Given the description of an element on the screen output the (x, y) to click on. 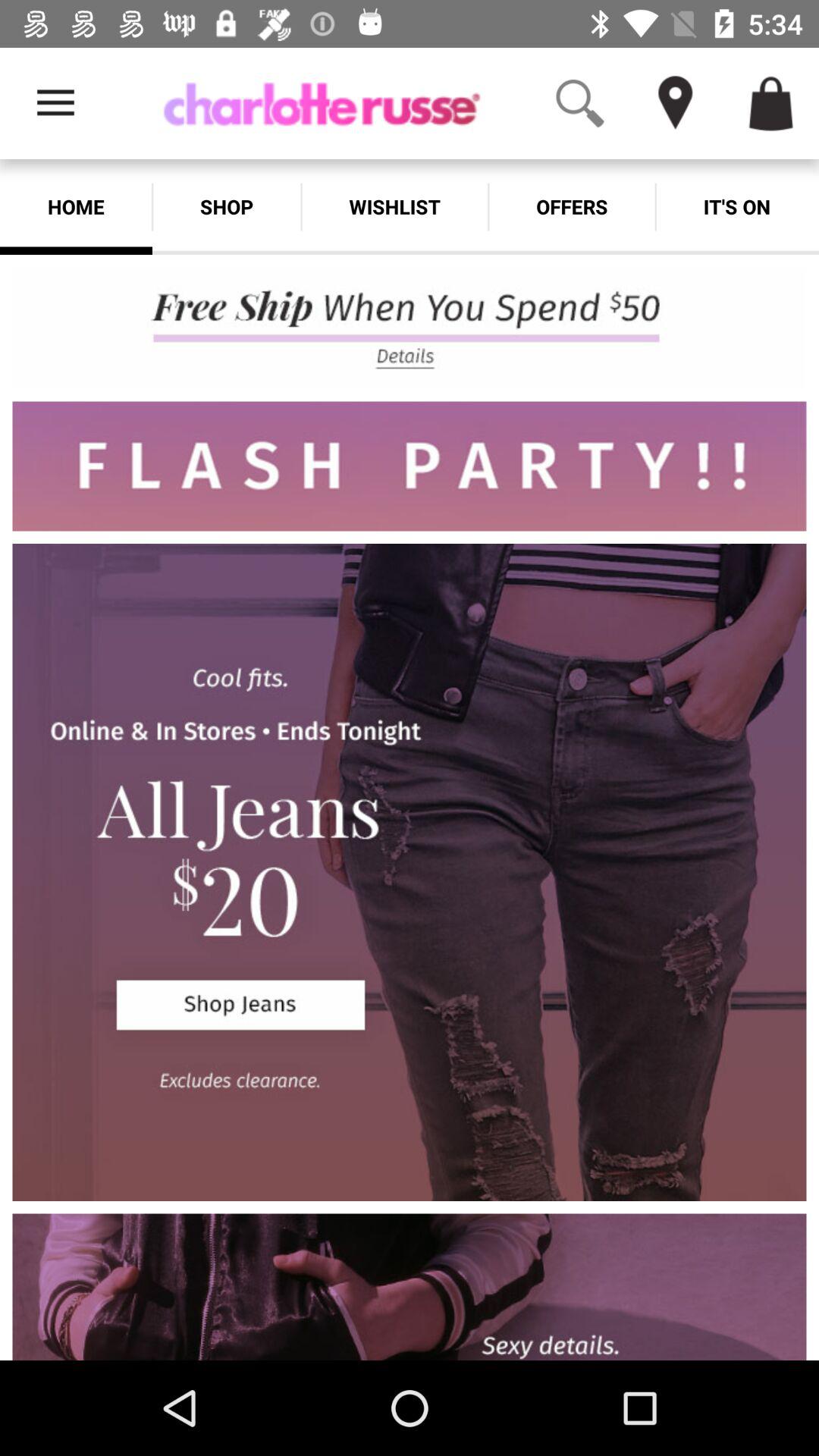
tap the wishlist app (394, 206)
